Given the description of an element on the screen output the (x, y) to click on. 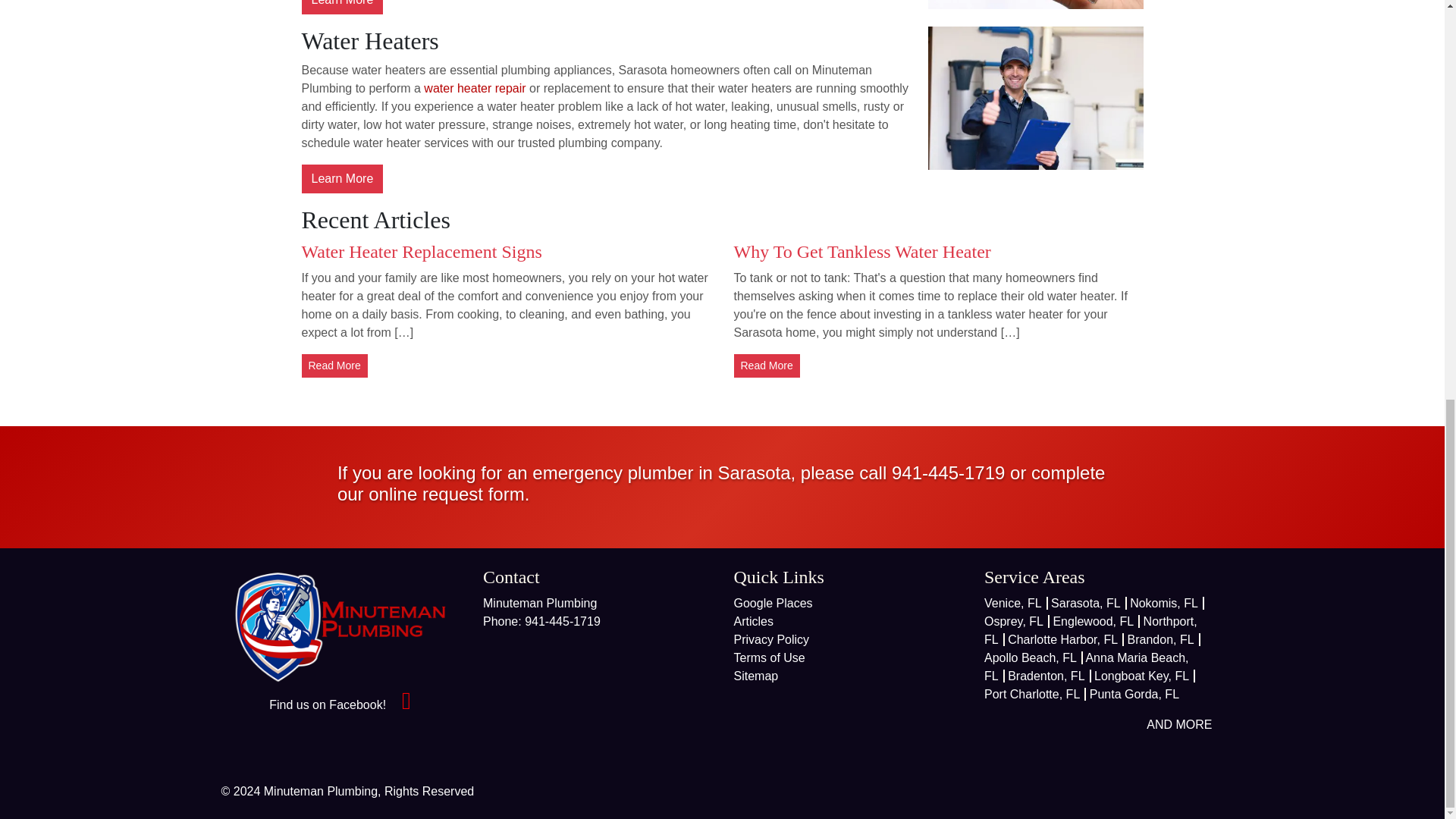
water heater repair (474, 88)
Learn More (342, 7)
